Given the description of an element on the screen output the (x, y) to click on. 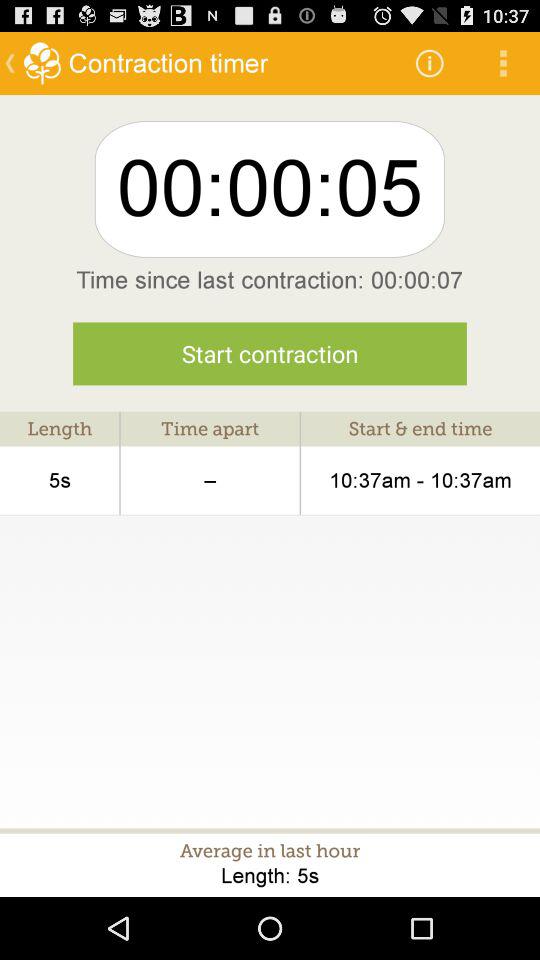
launch icon to the right of the length (209, 480)
